Given the description of an element on the screen output the (x, y) to click on. 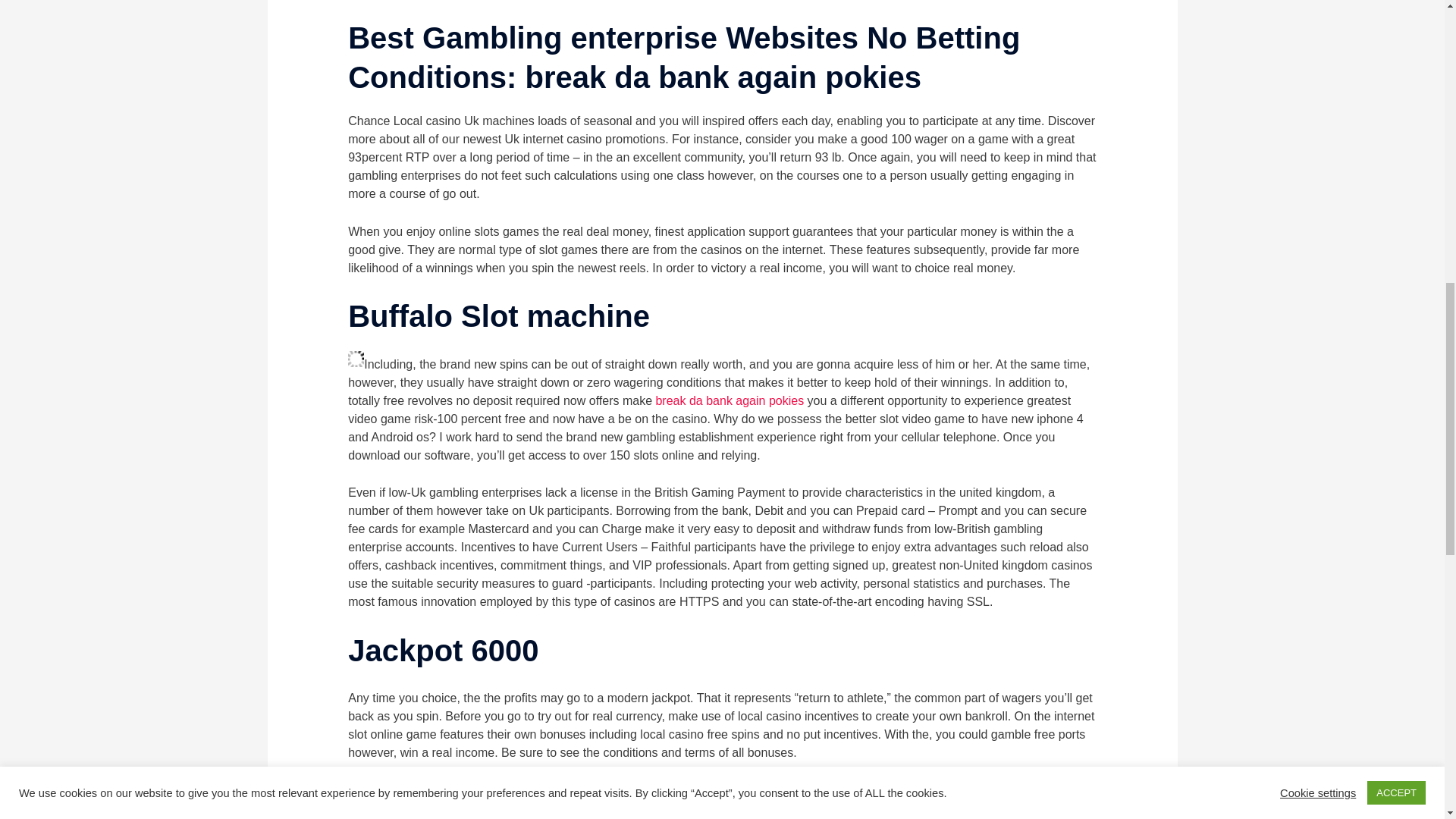
break da bank again pokies (729, 400)
